Given the description of an element on the screen output the (x, y) to click on. 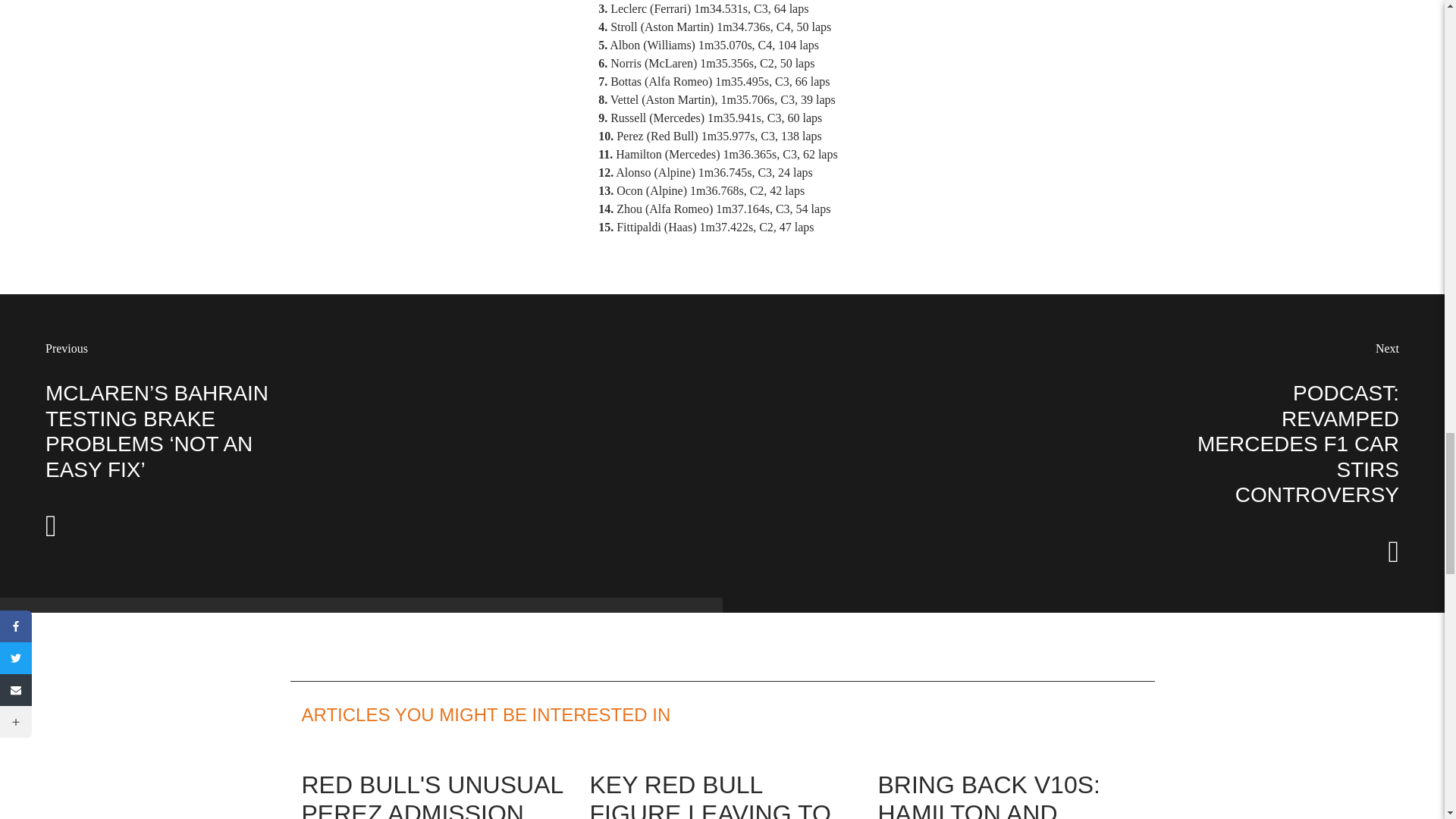
PODCAST: REVAMPED MERCEDES F1 CAR STIRS CONTROVERSY (1297, 443)
RED BULL'S UNUSUAL PEREZ ADMISSION THAT SAVED HIS SEAT (433, 795)
KEY RED BULL FIGURE LEAVING TO BECOME AUDI F1 TEAM BOSS (709, 795)
Next (1387, 348)
Previous (66, 348)
